Given the description of an element on the screen output the (x, y) to click on. 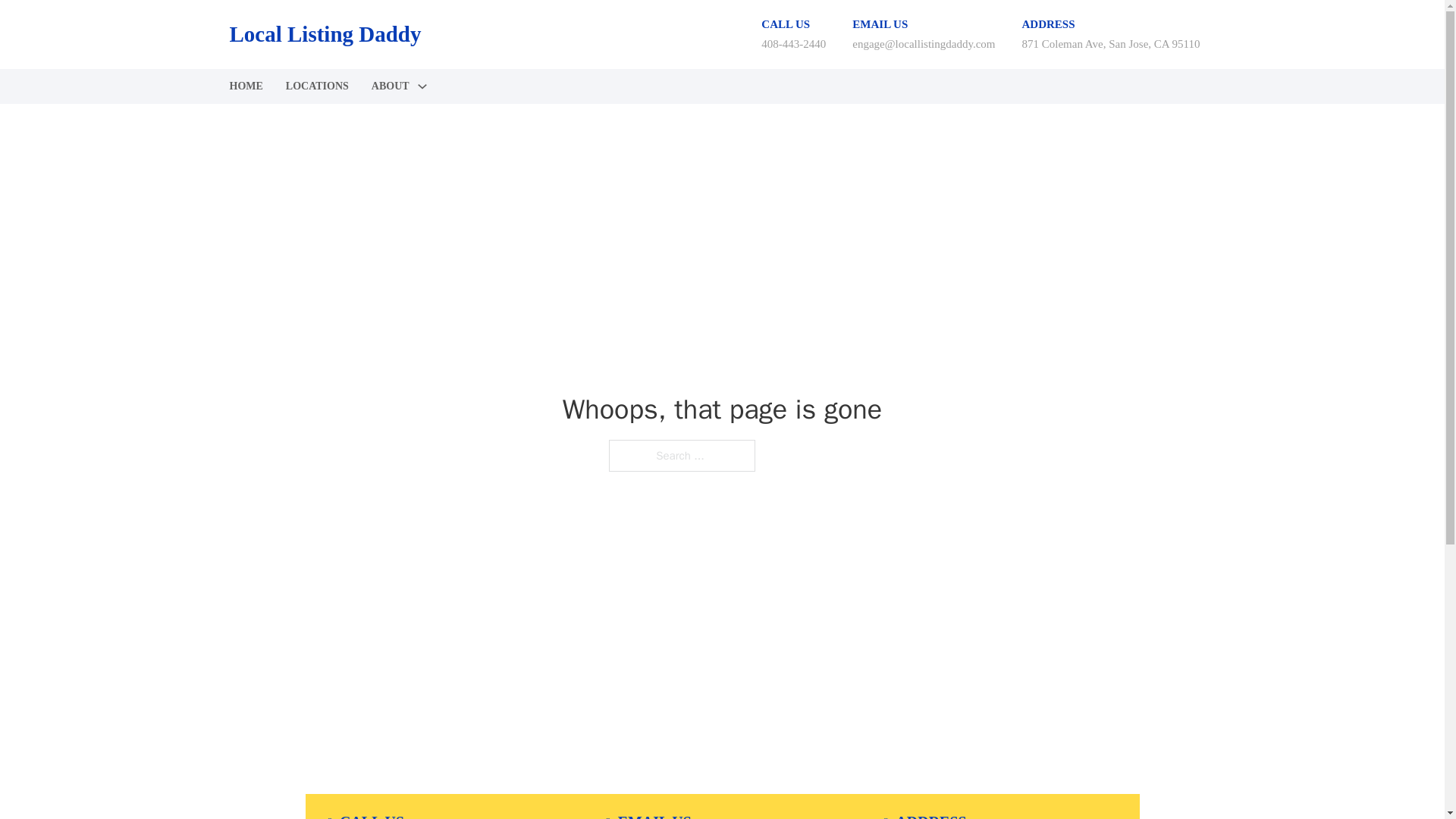
408-443-2440 (793, 43)
LOCATIONS (317, 85)
HOME (245, 85)
Local Listing Daddy (324, 34)
